Given the description of an element on the screen output the (x, y) to click on. 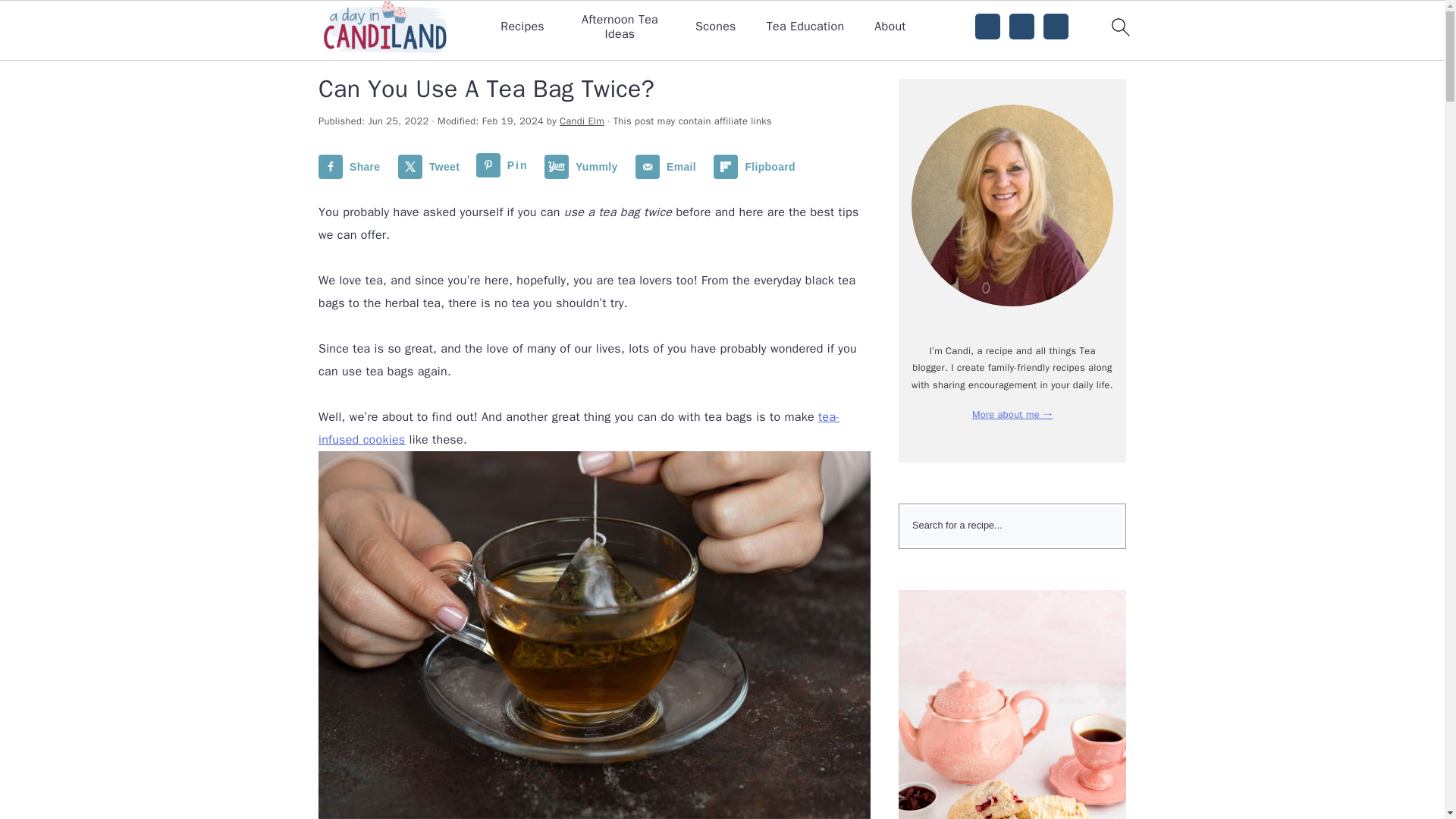
Afternoon Tea Ideas (620, 27)
Send over email (668, 166)
Share on Facebook (352, 166)
Save to Pinterest (505, 166)
Recipes (522, 26)
About (890, 26)
Tea Education (805, 26)
search icon (1119, 26)
Share on Yummly (584, 166)
Share on X (431, 166)
Share on Flipboard (757, 166)
Scones (715, 26)
